Given the description of an element on the screen output the (x, y) to click on. 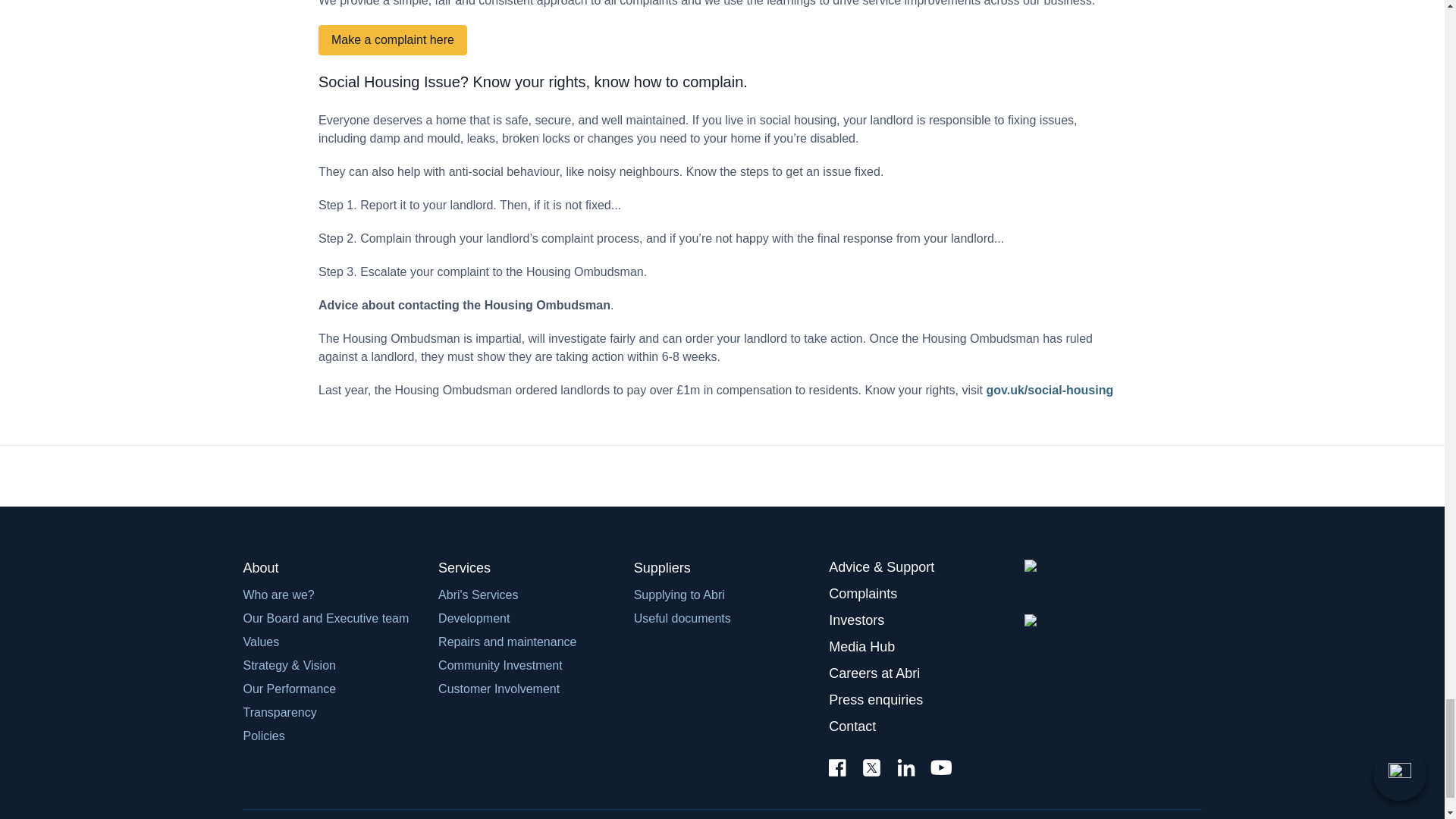
Youtube (941, 769)
LinkedIn (905, 769)
